Given the description of an element on the screen output the (x, y) to click on. 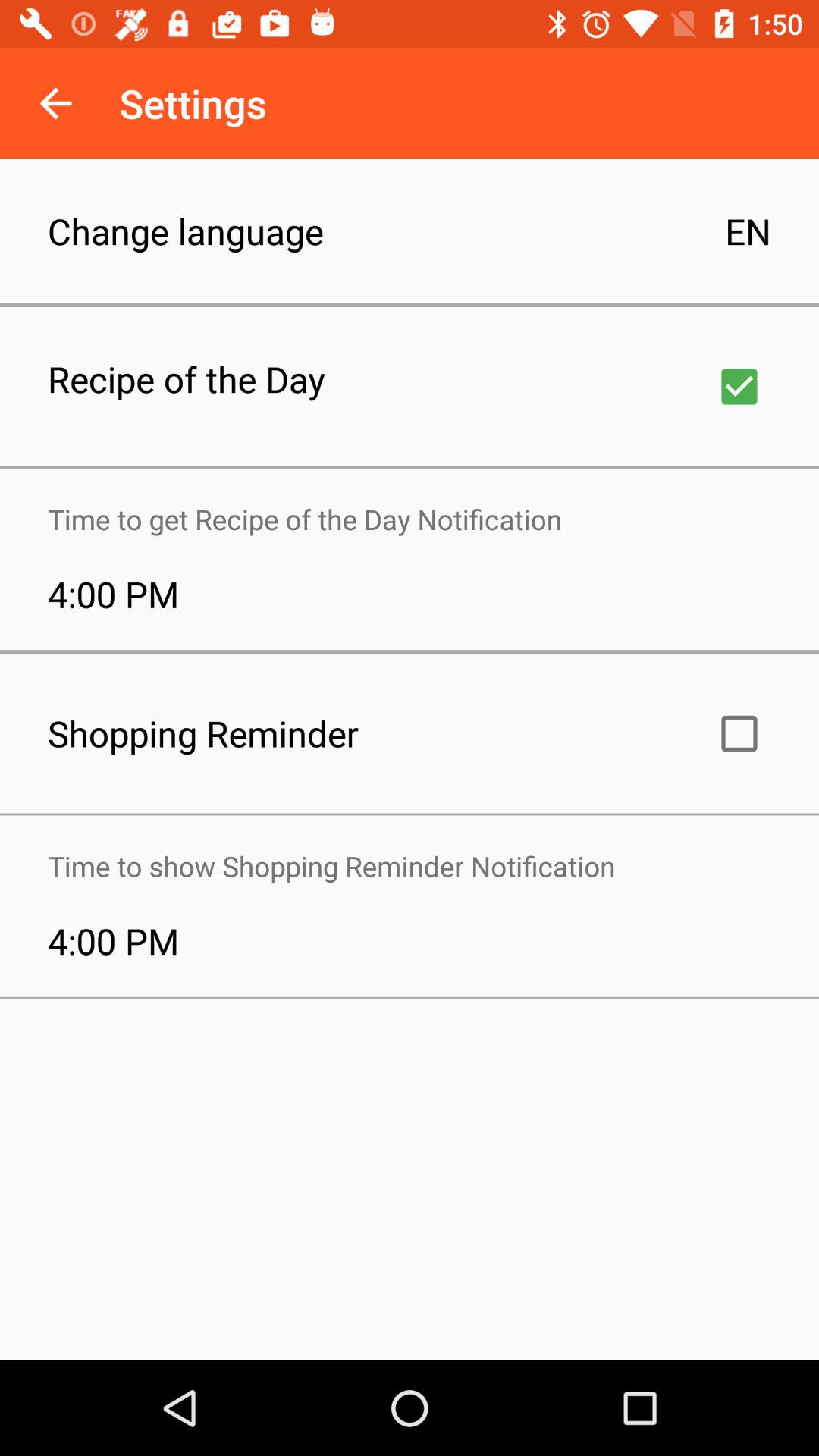
select the check box on the right side of text shopping reminder (739, 733)
